Given the description of an element on the screen output the (x, y) to click on. 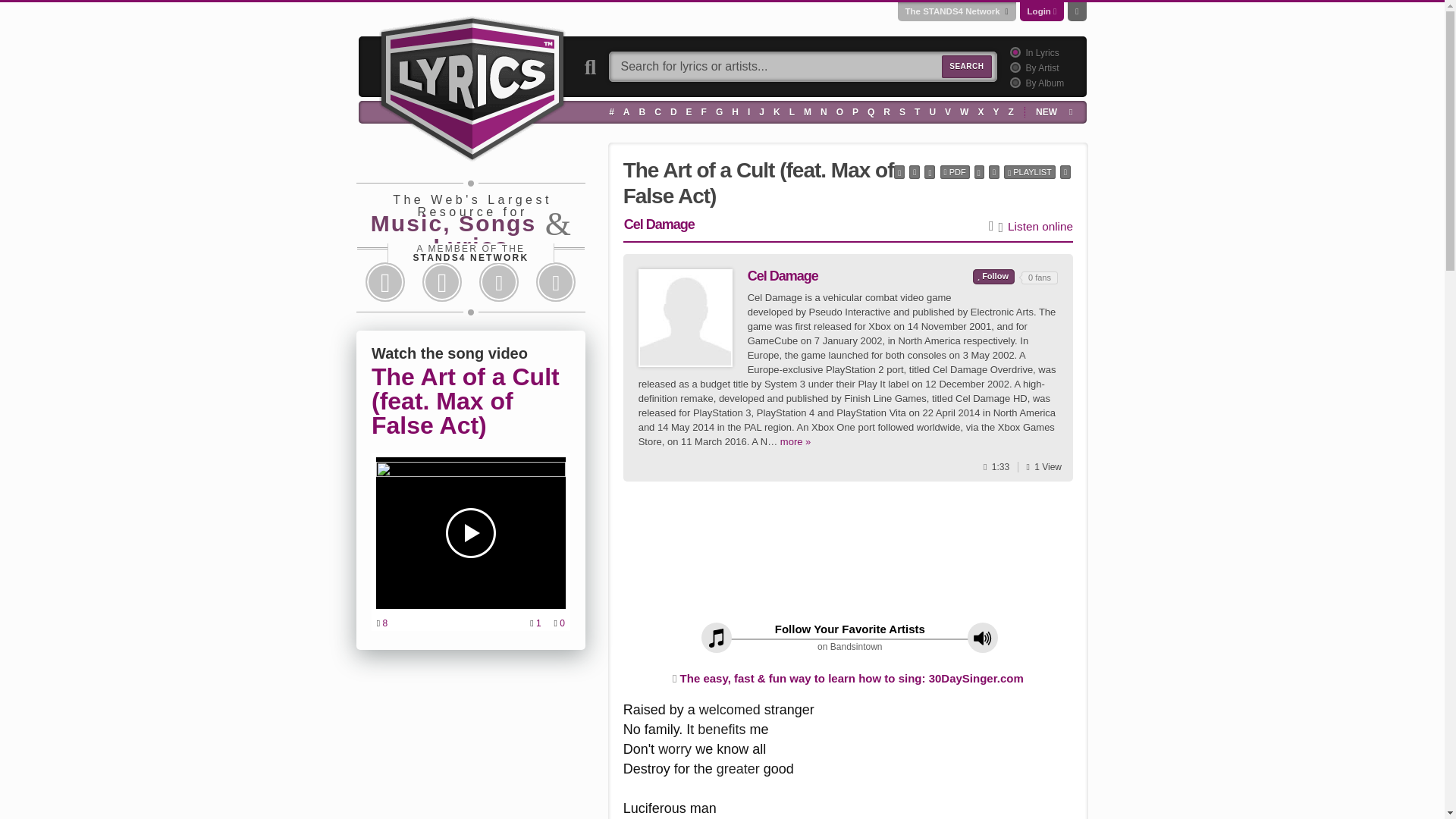
Listen to this song on Amazon (1040, 226)
Cel Damage (685, 317)
2 (1013, 67)
Advertisement (847, 557)
SEARCH (966, 66)
1 (1013, 51)
Login (1039, 10)
click to add your vote (993, 276)
3 (1013, 81)
Cel Damage (685, 318)
Lyrics.com (471, 86)
